Given the description of an element on the screen output the (x, y) to click on. 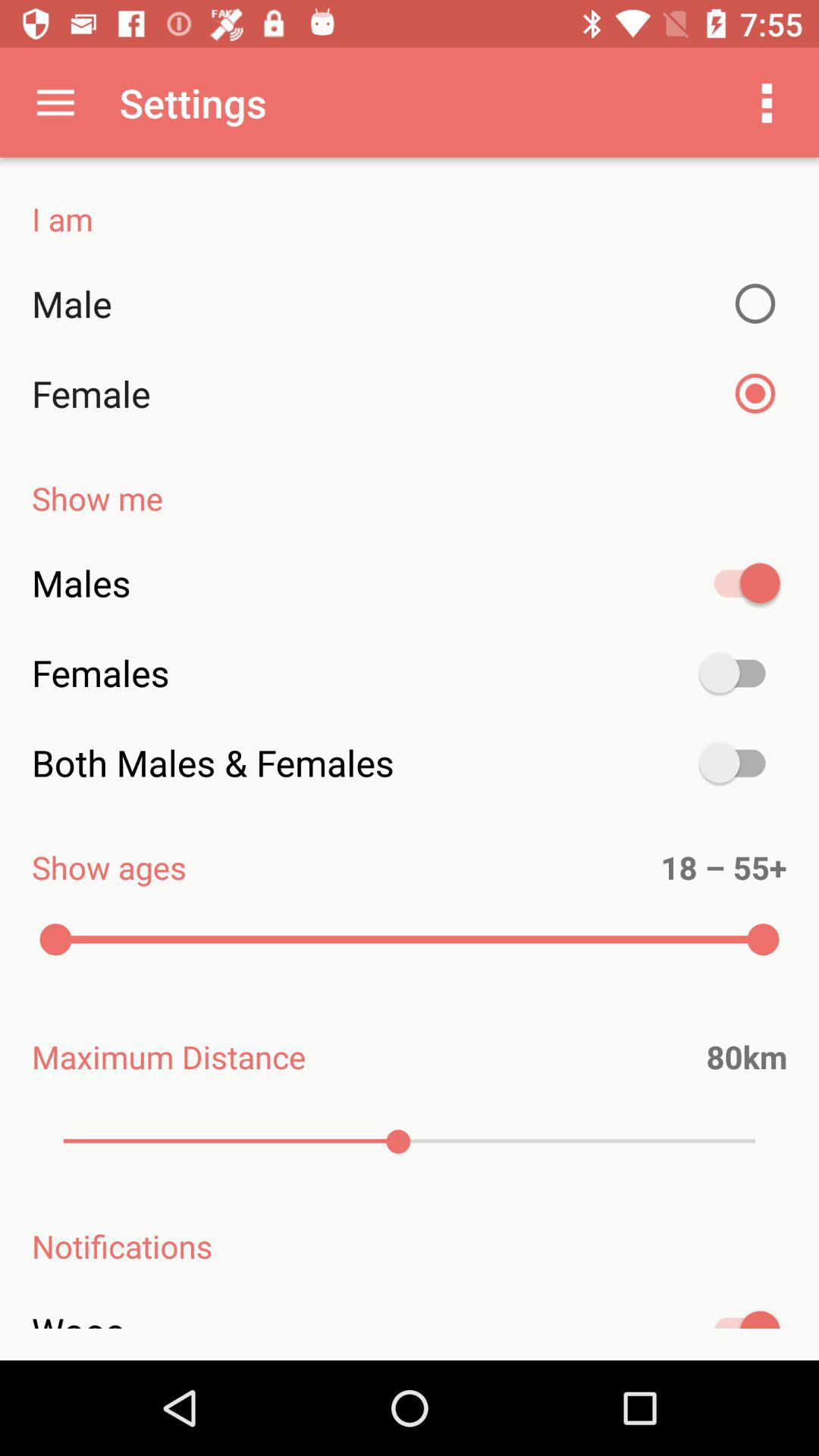
scroll to the woos (409, 1328)
